Given the description of an element on the screen output the (x, y) to click on. 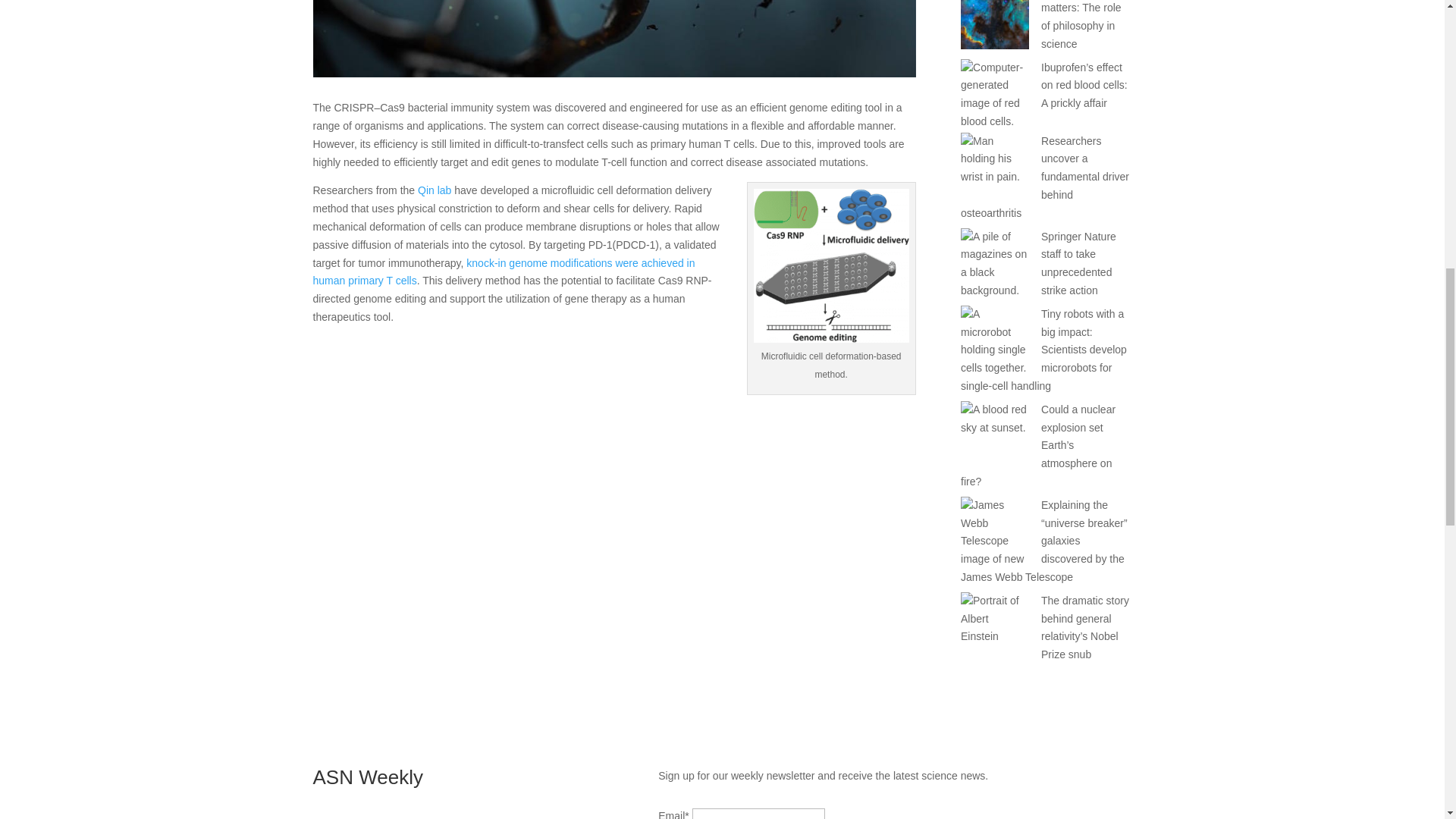
Qin lab (434, 190)
